Given the description of an element on the screen output the (x, y) to click on. 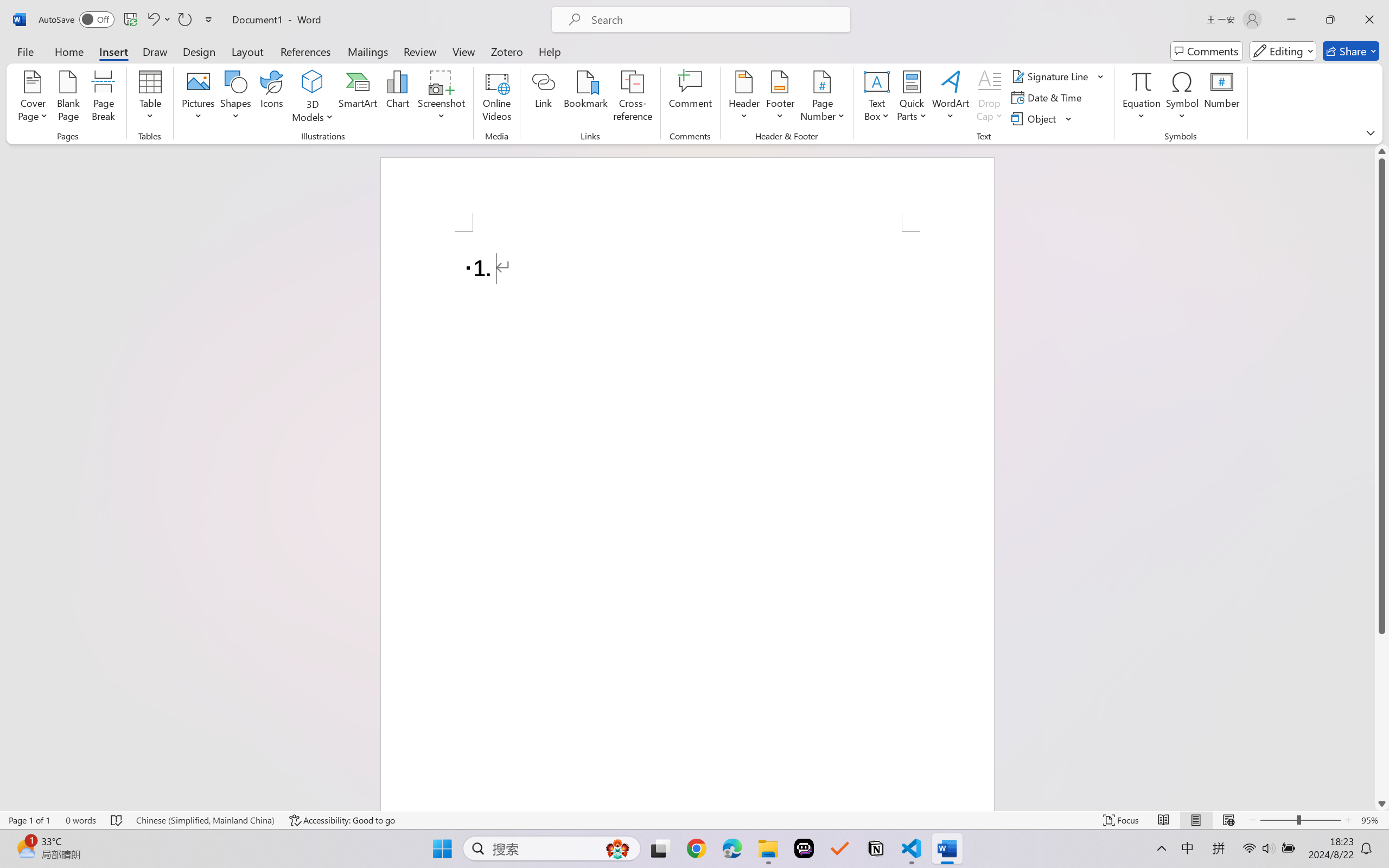
Line up (1382, 150)
Link (543, 97)
Pictures (198, 97)
Signature Line (1051, 75)
Object... (1035, 118)
Equation (1141, 81)
